Given the description of an element on the screen output the (x, y) to click on. 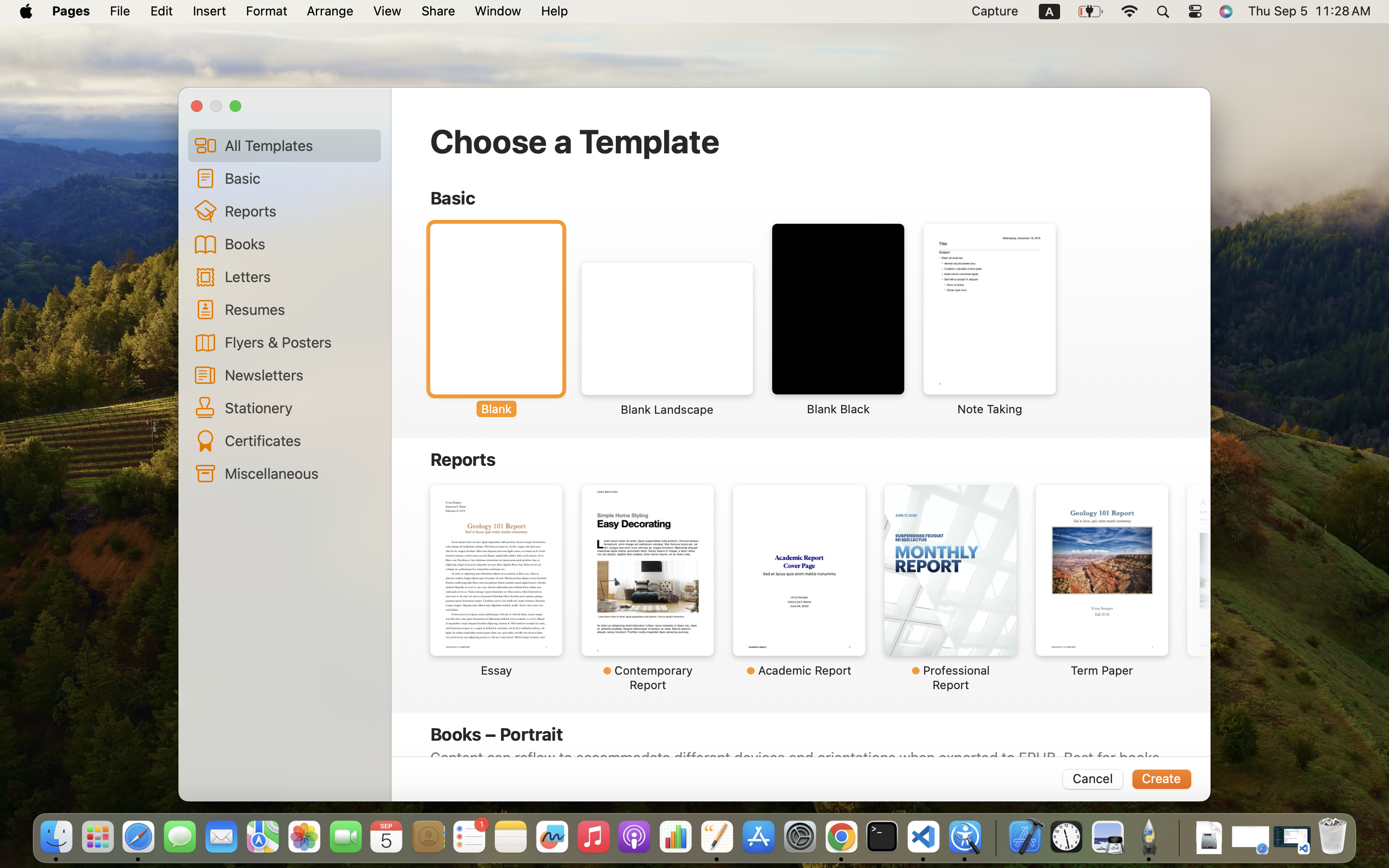
Flyers & Posters Element type: AXStaticText (298, 341)
Resumes Element type: AXStaticText (298, 308)
All Templates Element type: AXStaticText (298, 144)
Basic Element type: AXStaticText (298, 177)
Choose a Template Element type: AXStaticText (574, 140)
